Given the description of an element on the screen output the (x, y) to click on. 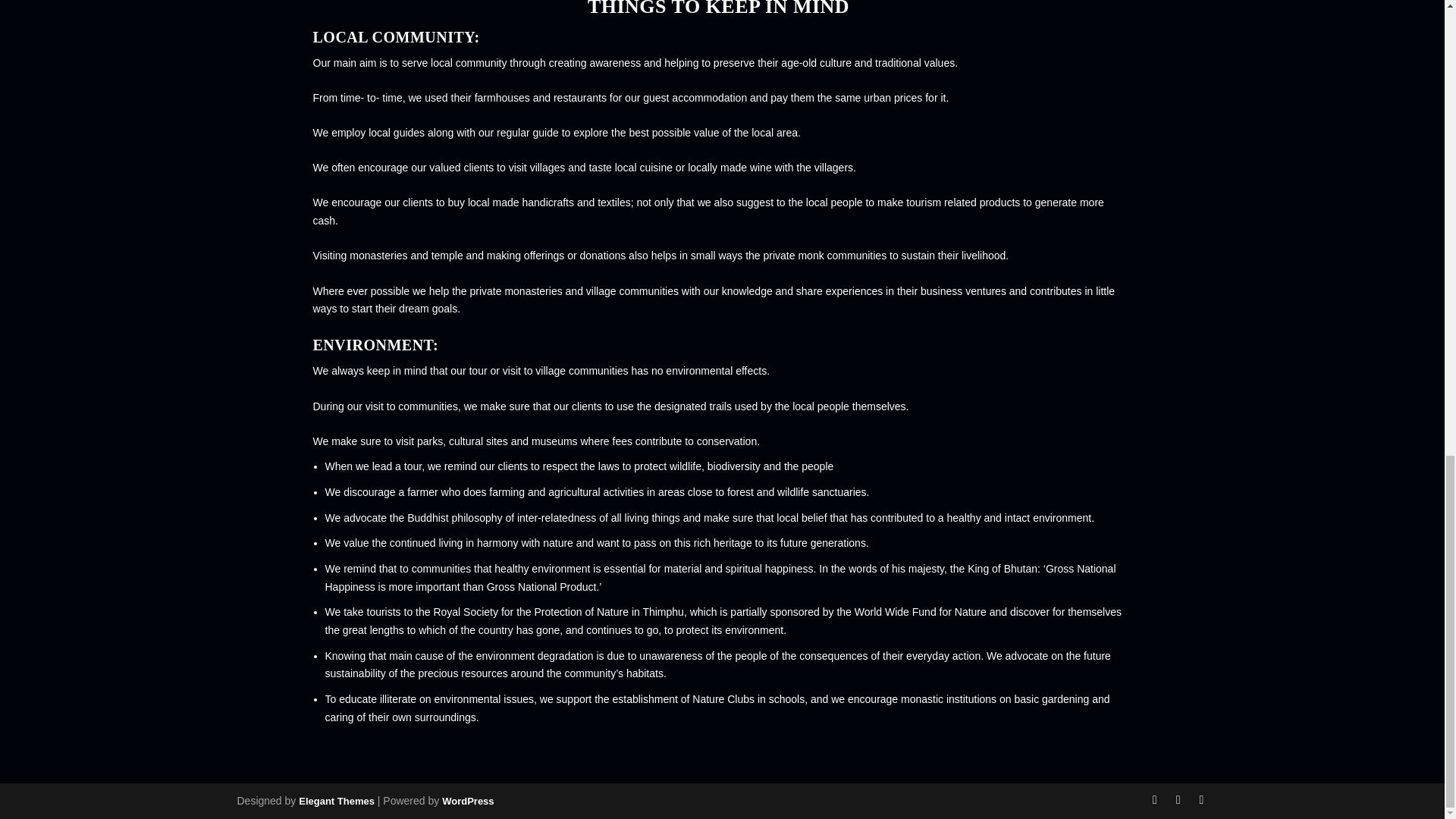
Premium WordPress Themes (336, 800)
